Given the description of an element on the screen output the (x, y) to click on. 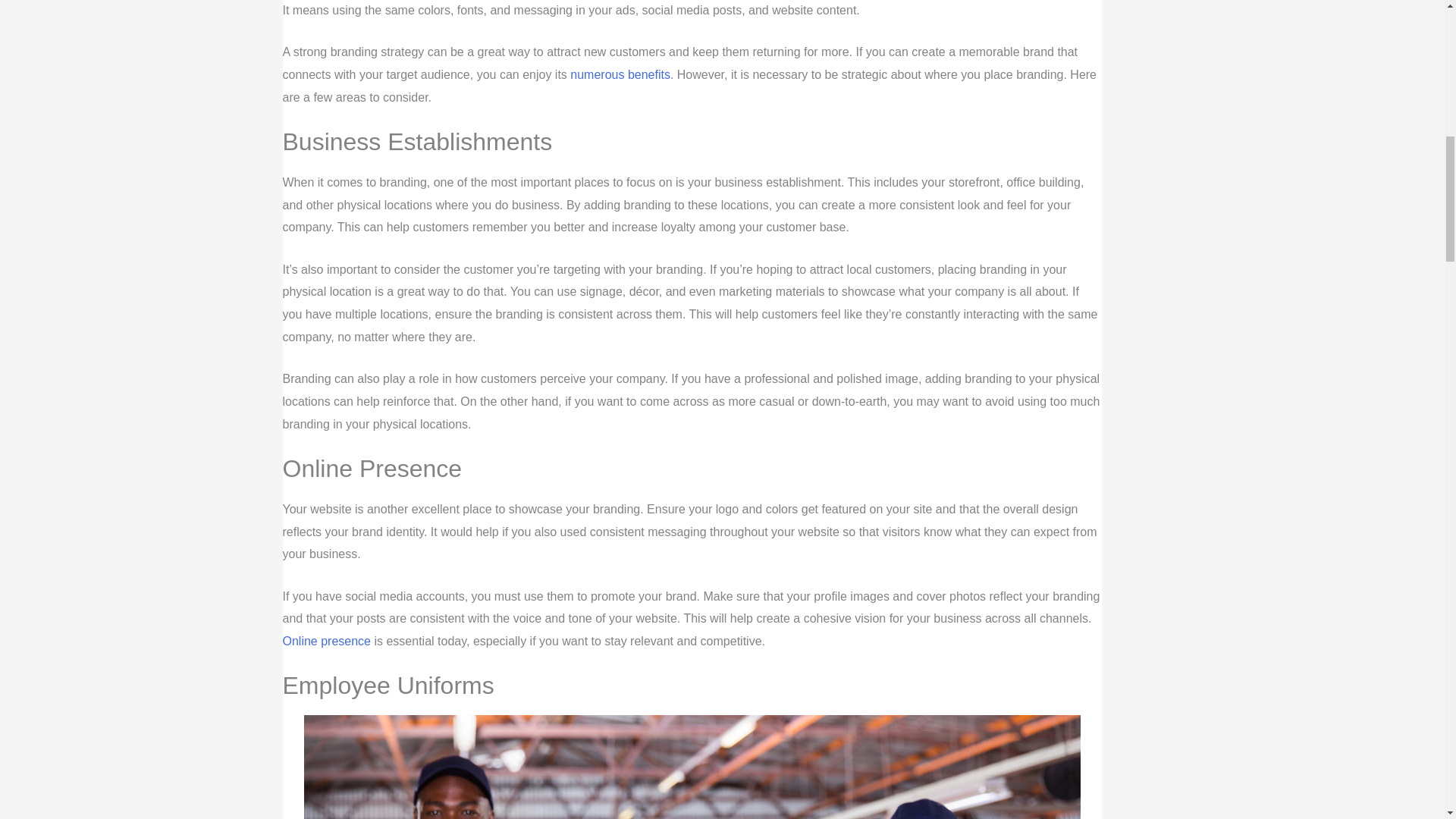
numerous benefits (619, 74)
Online presence (326, 640)
Employee uniform (691, 766)
